Given the description of an element on the screen output the (x, y) to click on. 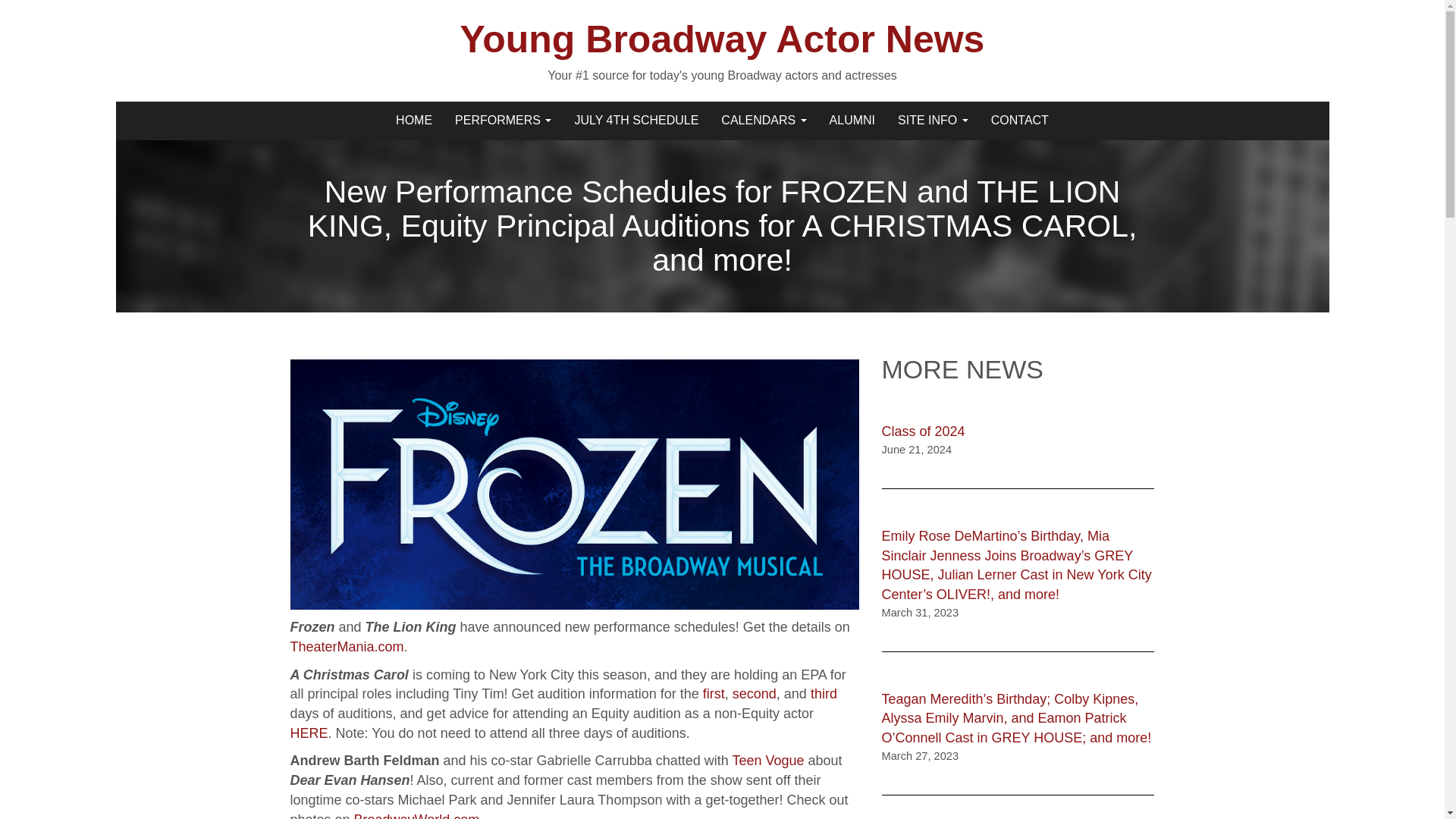
Contact (1019, 120)
PERFORMERS (503, 120)
TheaterMania.com (346, 646)
Performers (503, 120)
SITE INFO (932, 120)
BroadwayWorld.com (416, 815)
ALUMNI (852, 120)
Teen Vogue (767, 760)
Young Broadway Actor News (387, 120)
third (823, 693)
